Given the description of an element on the screen output the (x, y) to click on. 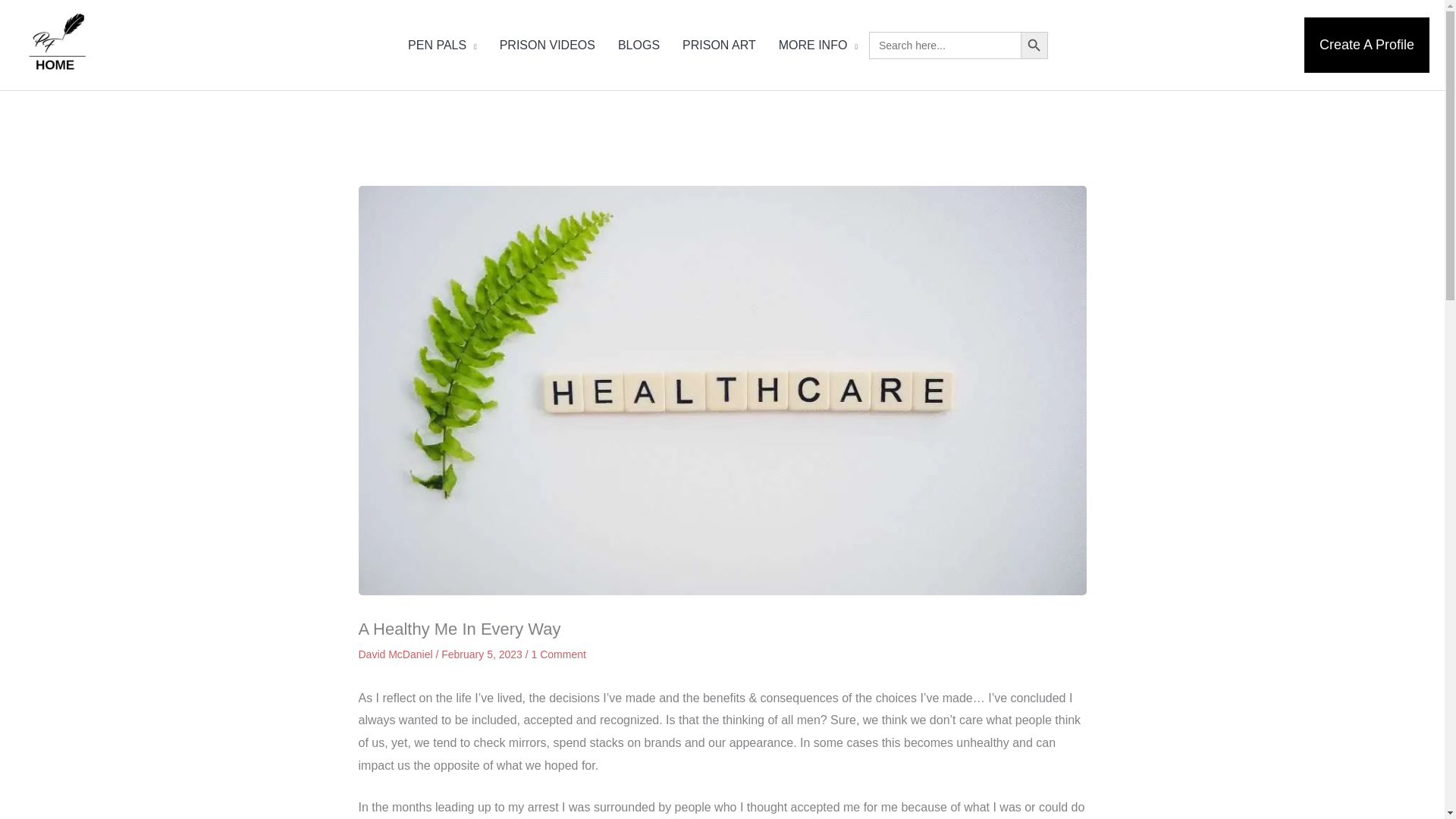
MORE INFO (818, 45)
BLOGS (639, 45)
Create A Profile (1366, 44)
Search Button (1034, 44)
PRISON VIDEOS (547, 45)
PEN PALS (441, 45)
PRISON ART (719, 45)
